Given the description of an element on the screen output the (x, y) to click on. 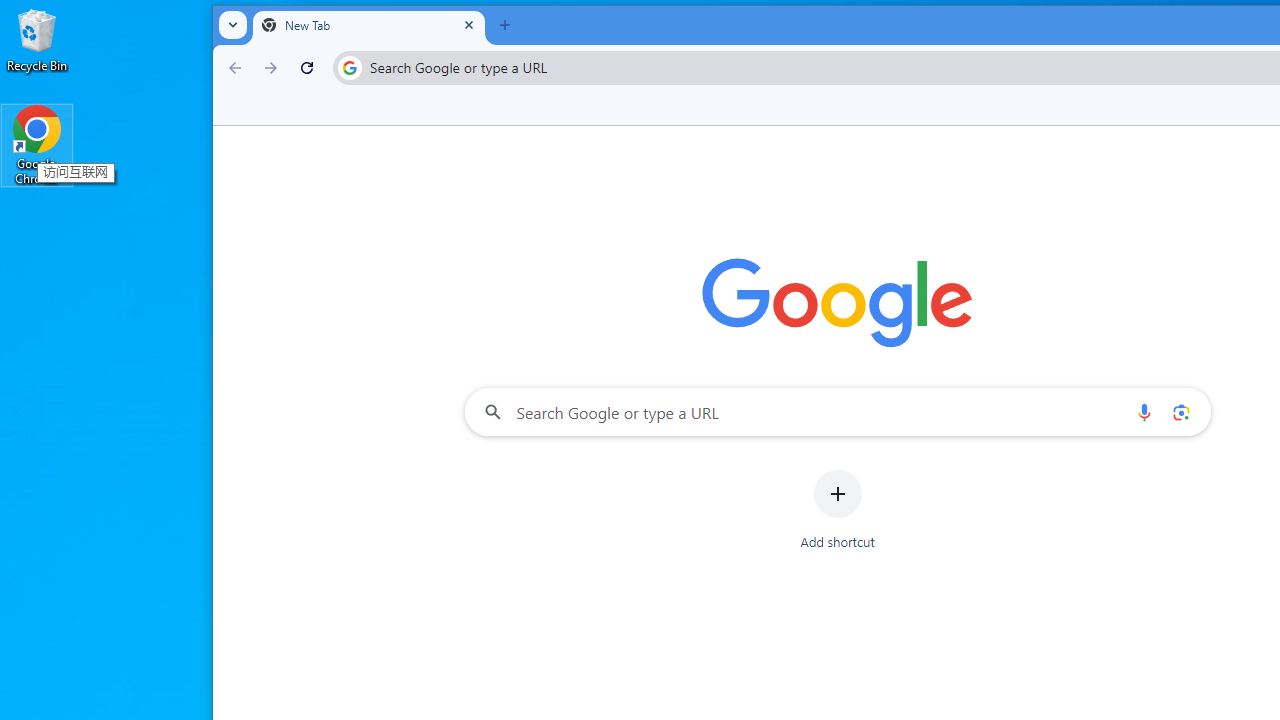
Recycle Bin (37, 39)
Google Chrome (37, 144)
